Given the description of an element on the screen output the (x, y) to click on. 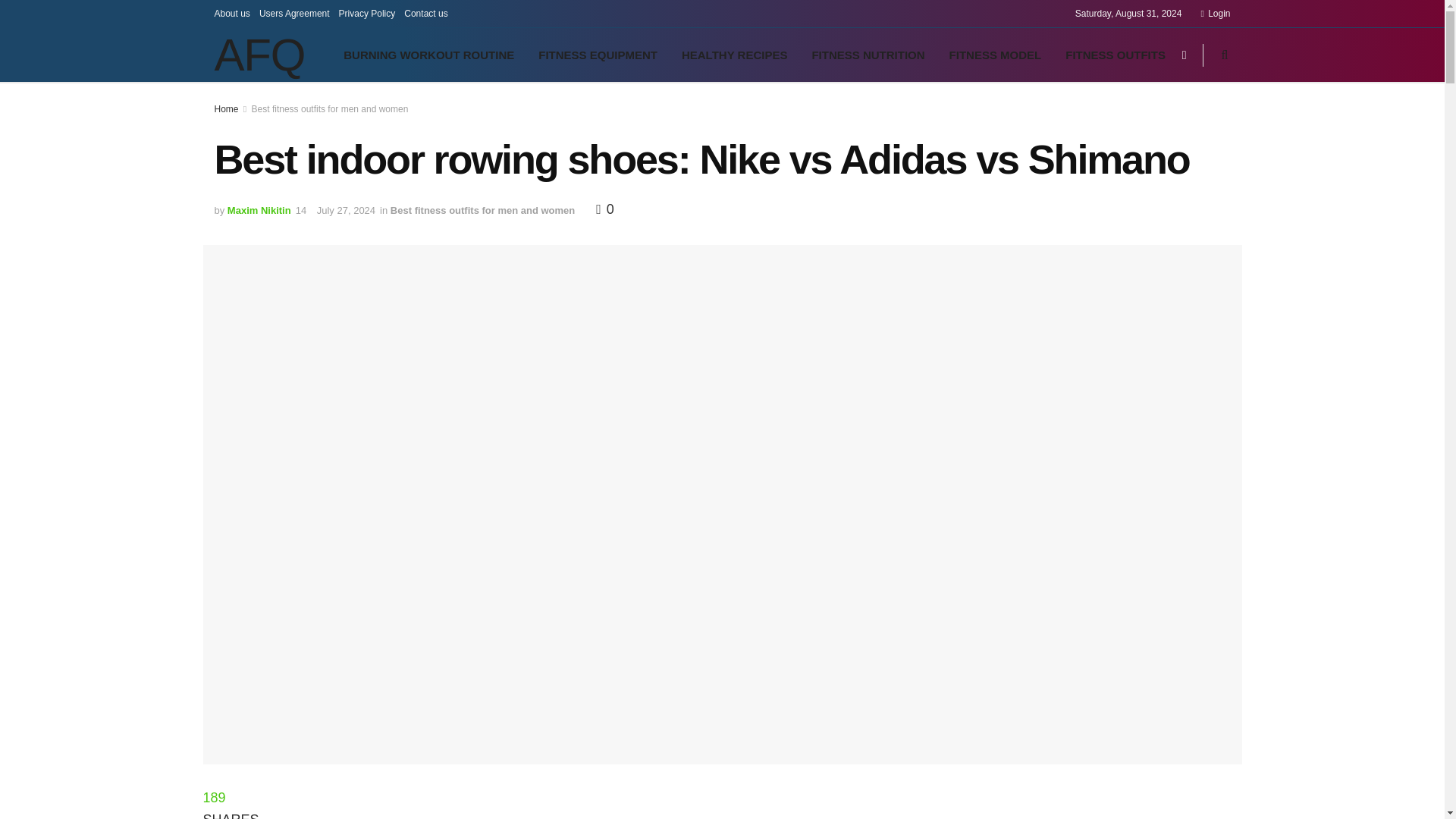
HEALTHY RECIPES (734, 54)
BURNING WORKOUT ROUTINE (428, 54)
Login (1214, 13)
Privacy Policy (367, 13)
Best fitness outfits for men and women (330, 109)
FITNESS NUTRITION (867, 54)
Contact us (425, 13)
About us (231, 13)
July 27, 2024 (346, 210)
FITNESS OUTFITS (1114, 54)
